Given the description of an element on the screen output the (x, y) to click on. 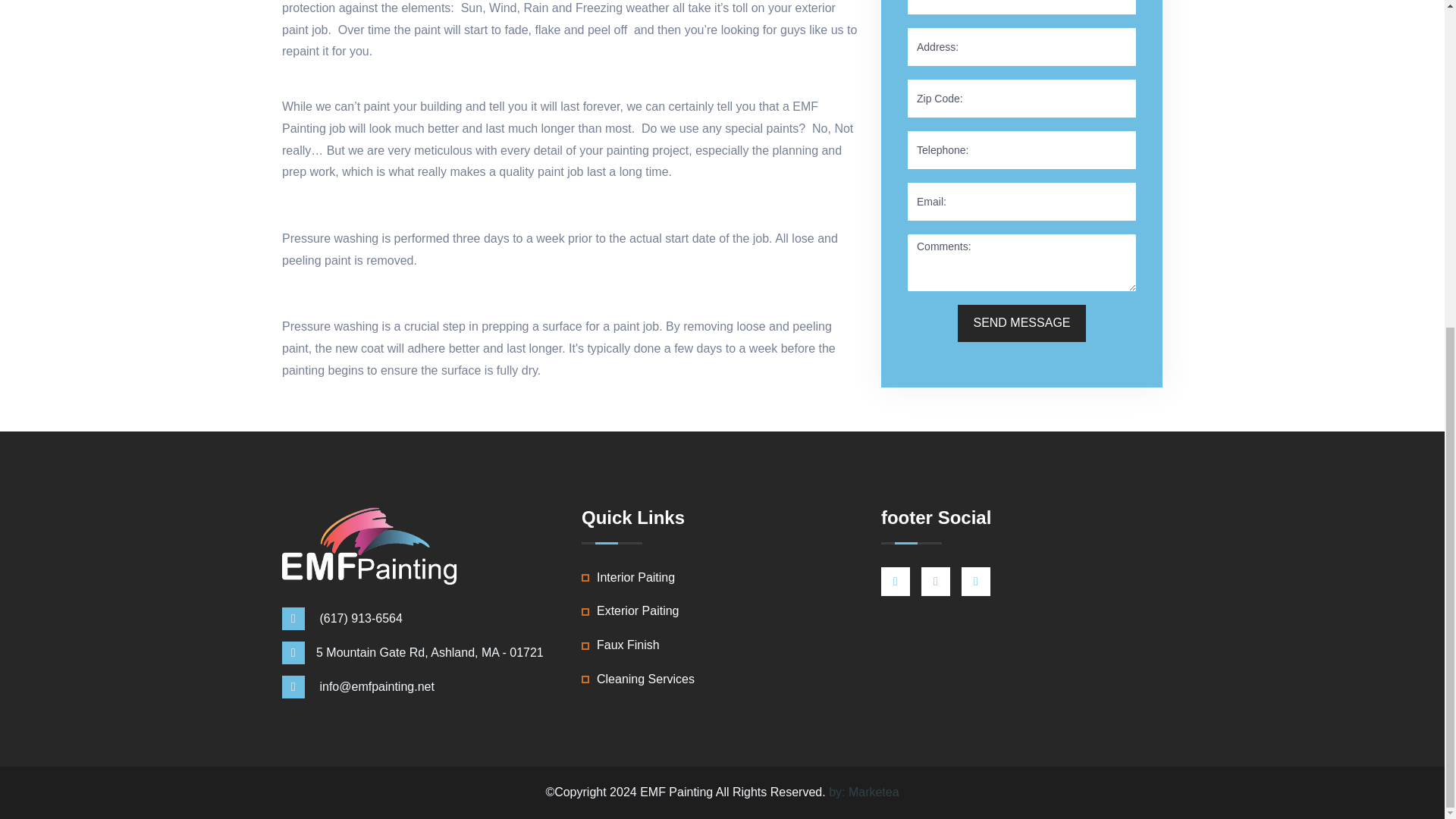
SEND MESSAGE (1021, 323)
Interior Paiting (635, 577)
Cleaning Services (645, 680)
by: Marketea (863, 792)
Exterior Paiting (637, 611)
Faux Finish (627, 645)
